Given the description of an element on the screen output the (x, y) to click on. 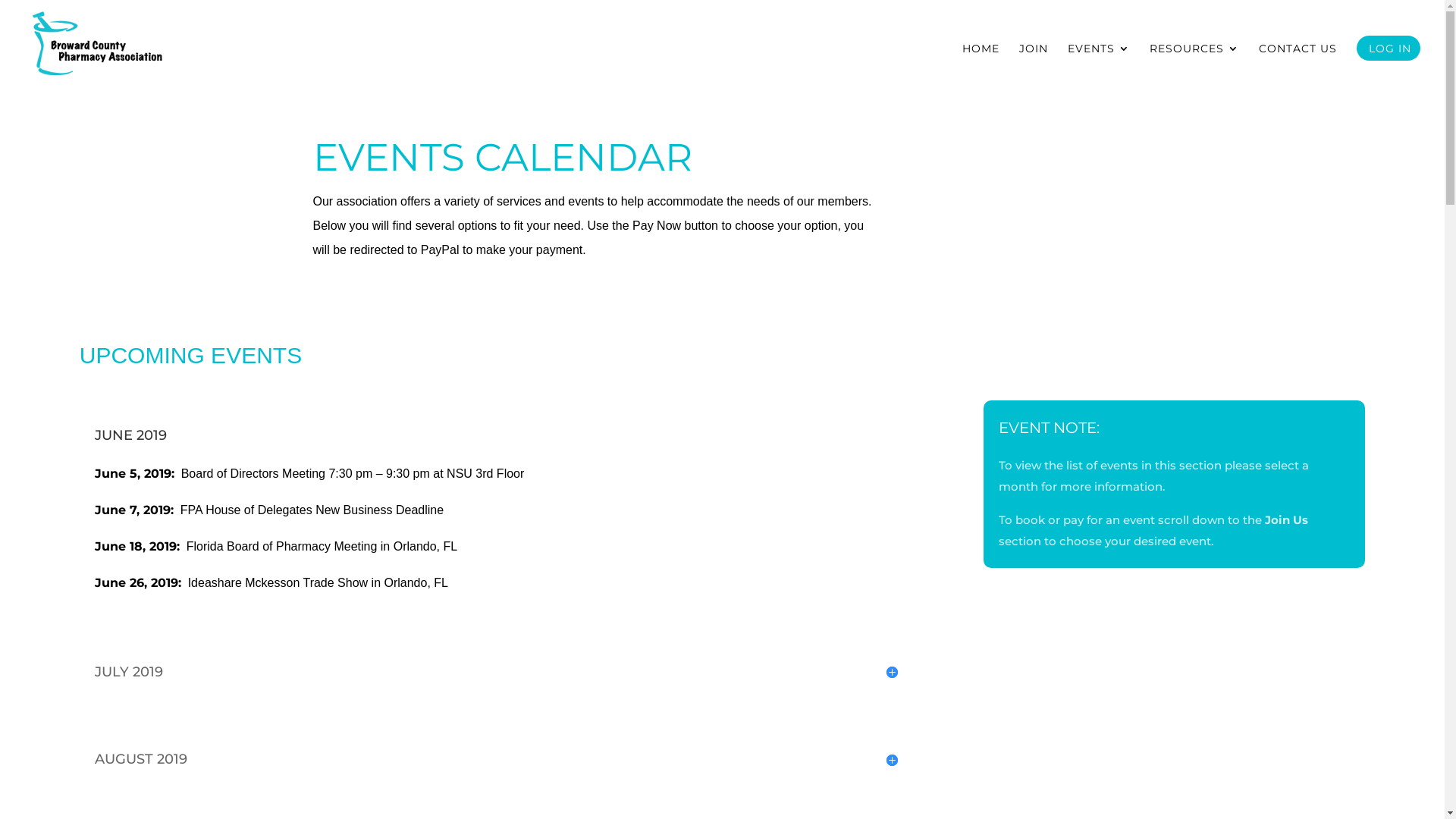
HOME Element type: text (980, 66)
EVENTS Element type: text (1098, 66)
CONTACT US Element type: text (1297, 66)
RESOURCES Element type: text (1194, 66)
LOG IN Element type: text (1389, 66)
JOIN Element type: text (1033, 66)
